Given the description of an element on the screen output the (x, y) to click on. 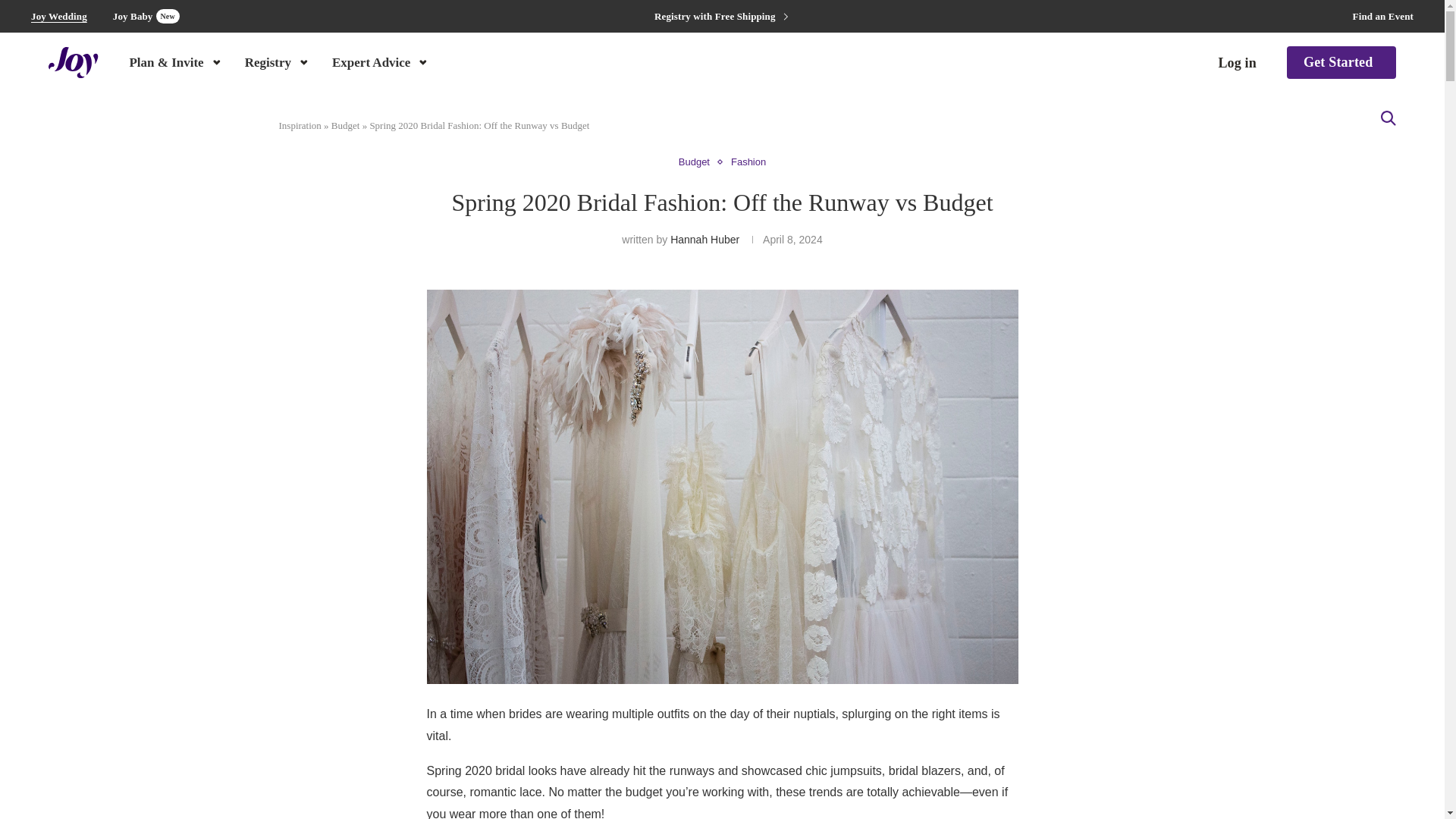
Joy Wedding (58, 16)
Registry (277, 61)
Expert Advice (380, 61)
Find an Event (1382, 16)
Get Started (1341, 61)
Find an Event (1382, 16)
Log in (146, 16)
